Given the description of an element on the screen output the (x, y) to click on. 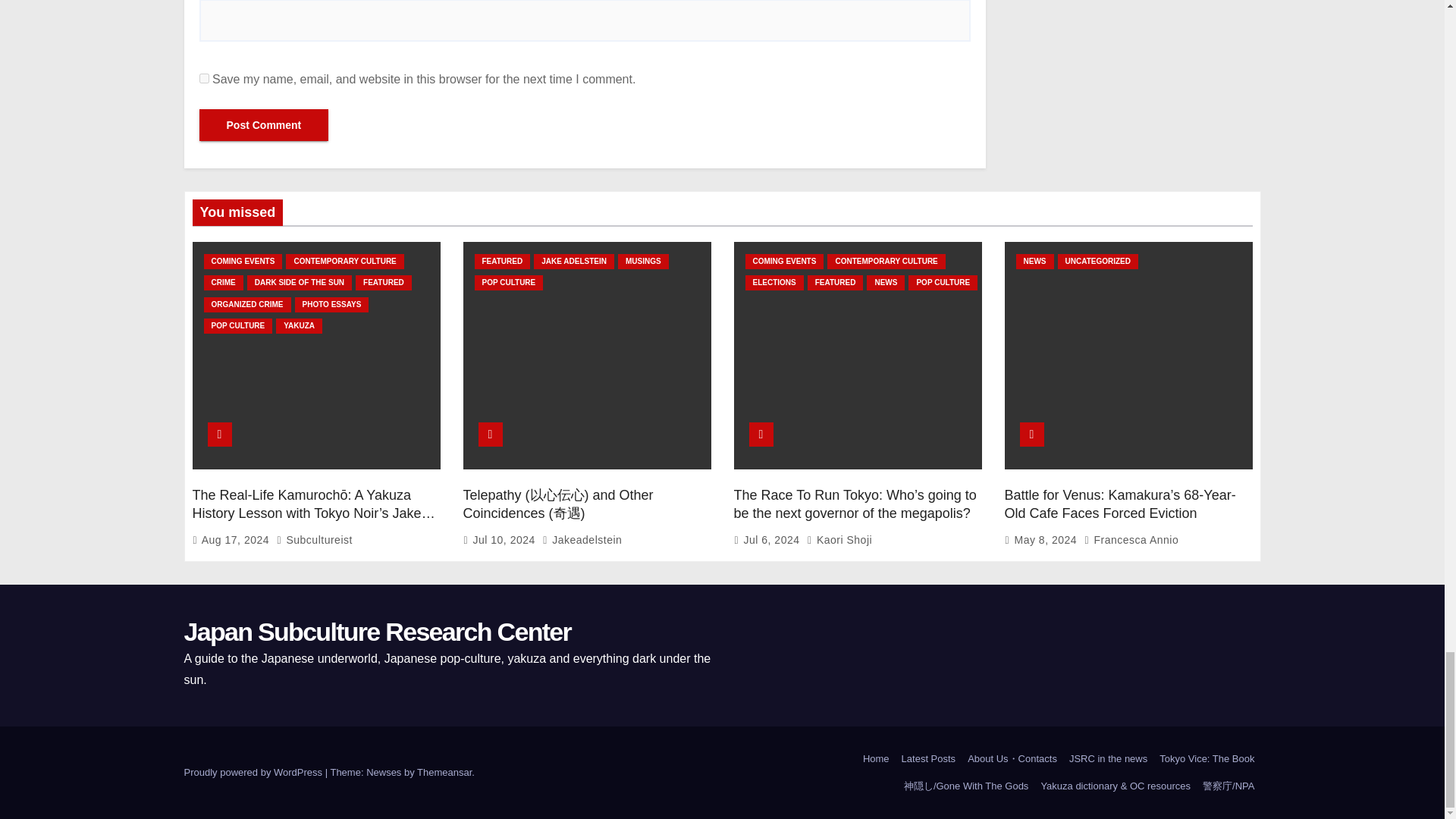
yes (203, 78)
Post Comment (263, 124)
Home (876, 759)
